Given the description of an element on the screen output the (x, y) to click on. 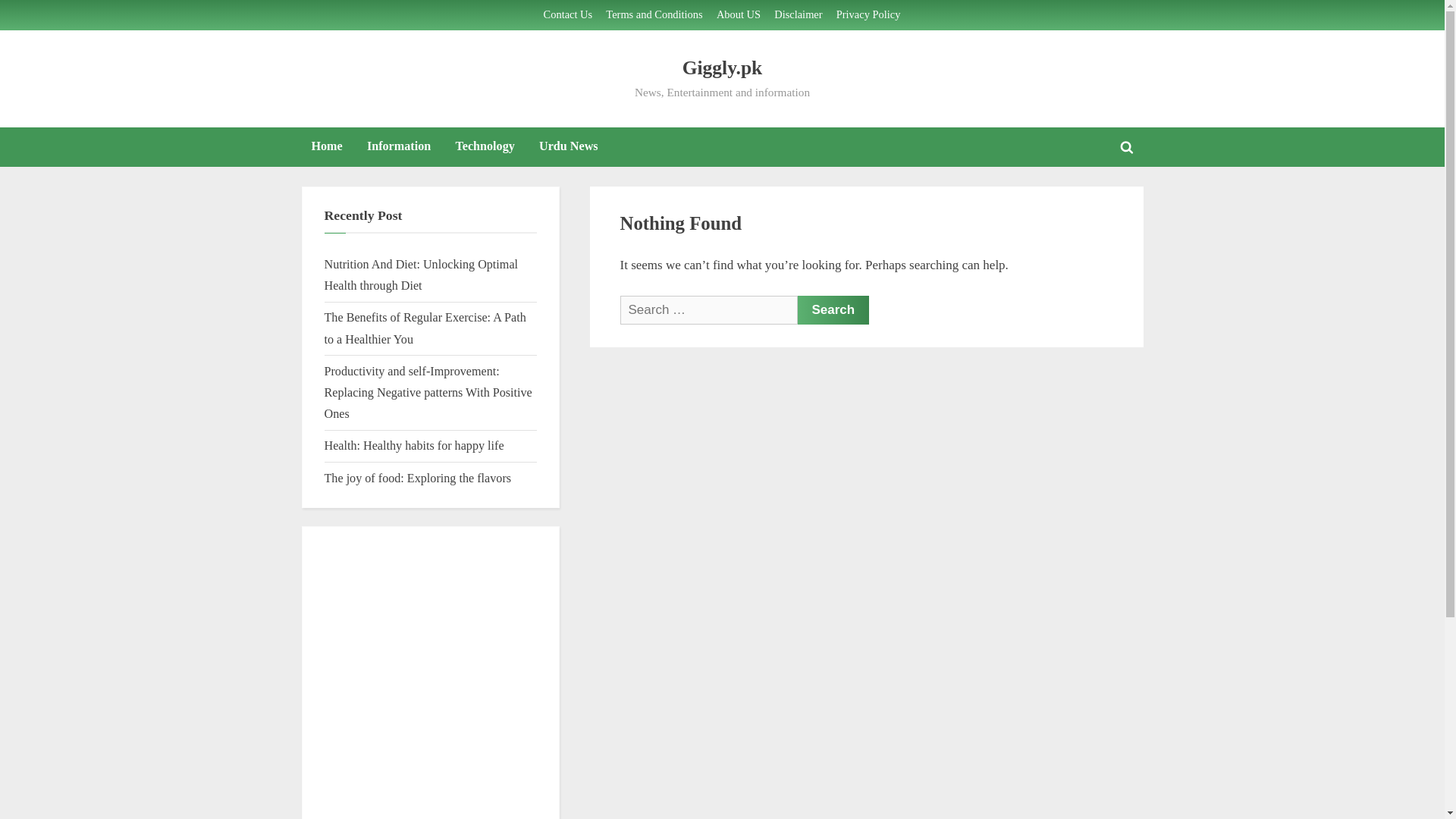
Urdu News (568, 147)
Search (833, 309)
Search (833, 309)
Technology (484, 147)
Disclaimer (798, 15)
Giggly.pk (722, 67)
Privacy Policy (868, 15)
The Benefits of Regular Exercise: A Path to a Healthier You (424, 327)
The joy of food: Exploring the flavors (418, 477)
Toggle search form (1126, 146)
Information (398, 147)
Terms and Conditions (653, 15)
Search (833, 309)
About US (738, 15)
Contact Us (567, 15)
